Given the description of an element on the screen output the (x, y) to click on. 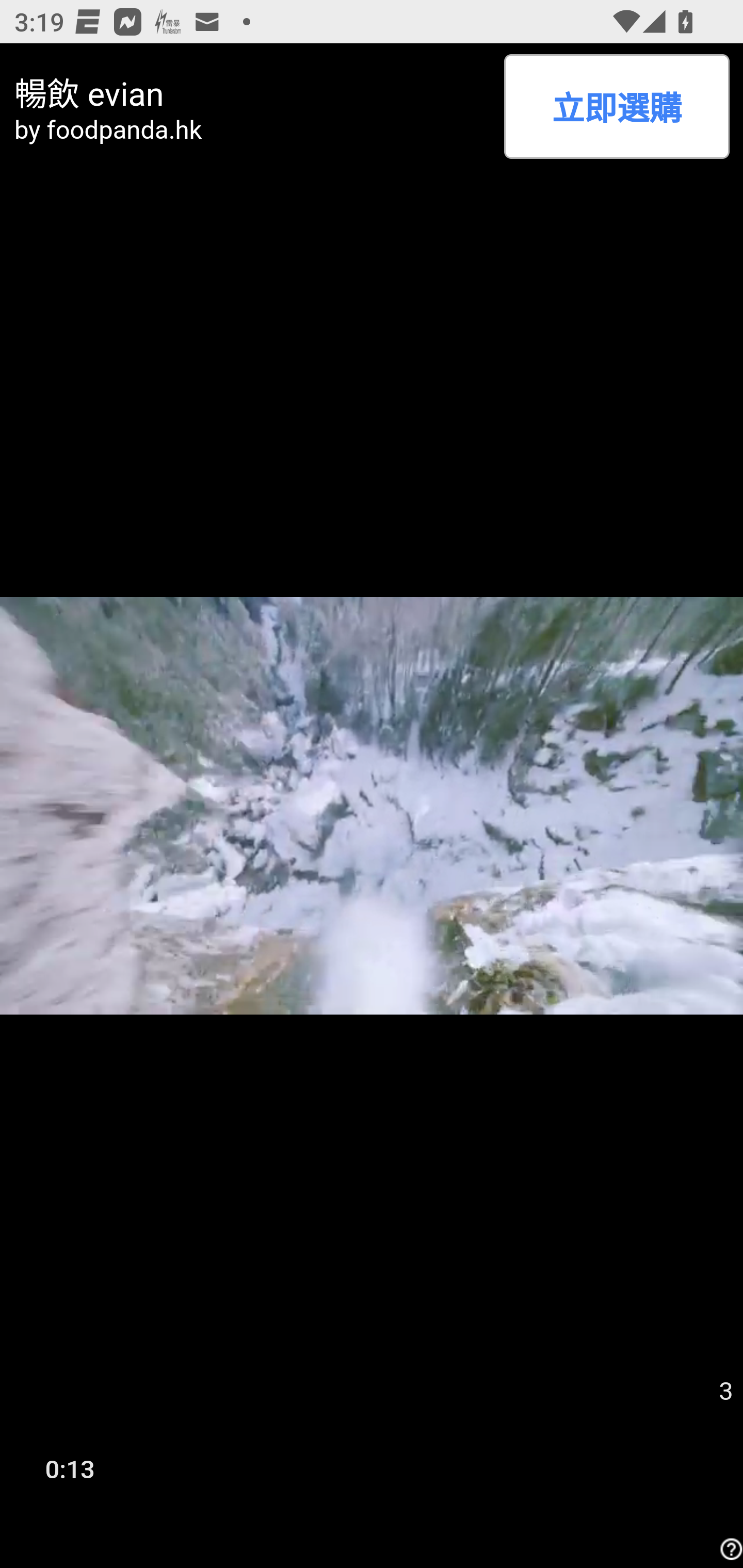
立即選購 (616, 106)
暢飲 evian (252, 90)
by foodpanda.hk (252, 128)
Skip Ad Countdown (725, 1391)
0:13 (70, 1468)
help_outline_white_24dp_with_3px_trbl_padding (728, 1548)
